Given the description of an element on the screen output the (x, y) to click on. 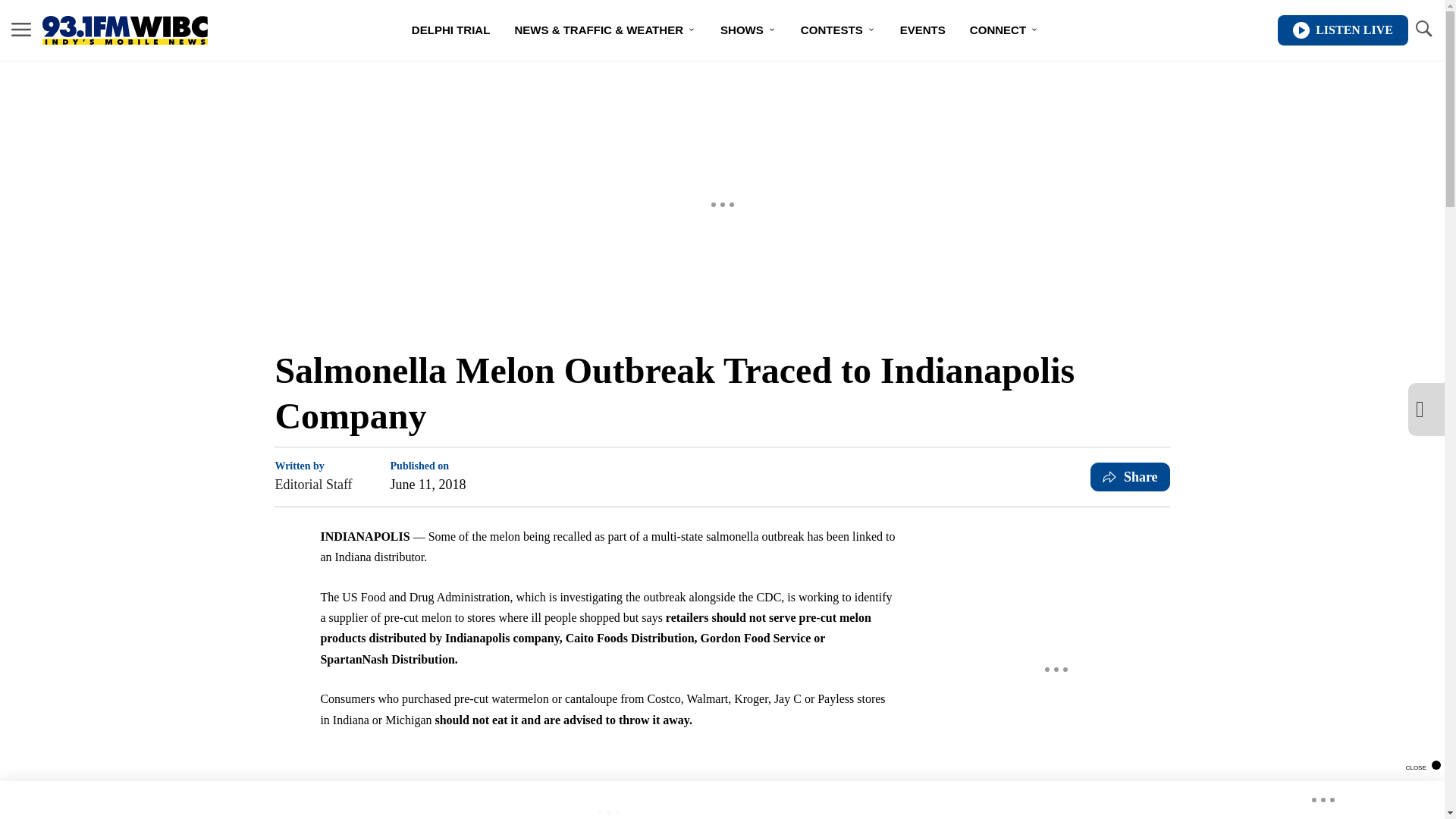
EVENTS (923, 30)
MENU (20, 30)
MENU (20, 29)
TOGGLE SEARCH (1422, 30)
CONNECT (1004, 30)
DELPHI TRIAL (450, 30)
TOGGLE SEARCH (1422, 28)
CONTESTS (838, 30)
LISTEN LIVE (1342, 30)
SHOWS (748, 30)
